Given the description of an element on the screen output the (x, y) to click on. 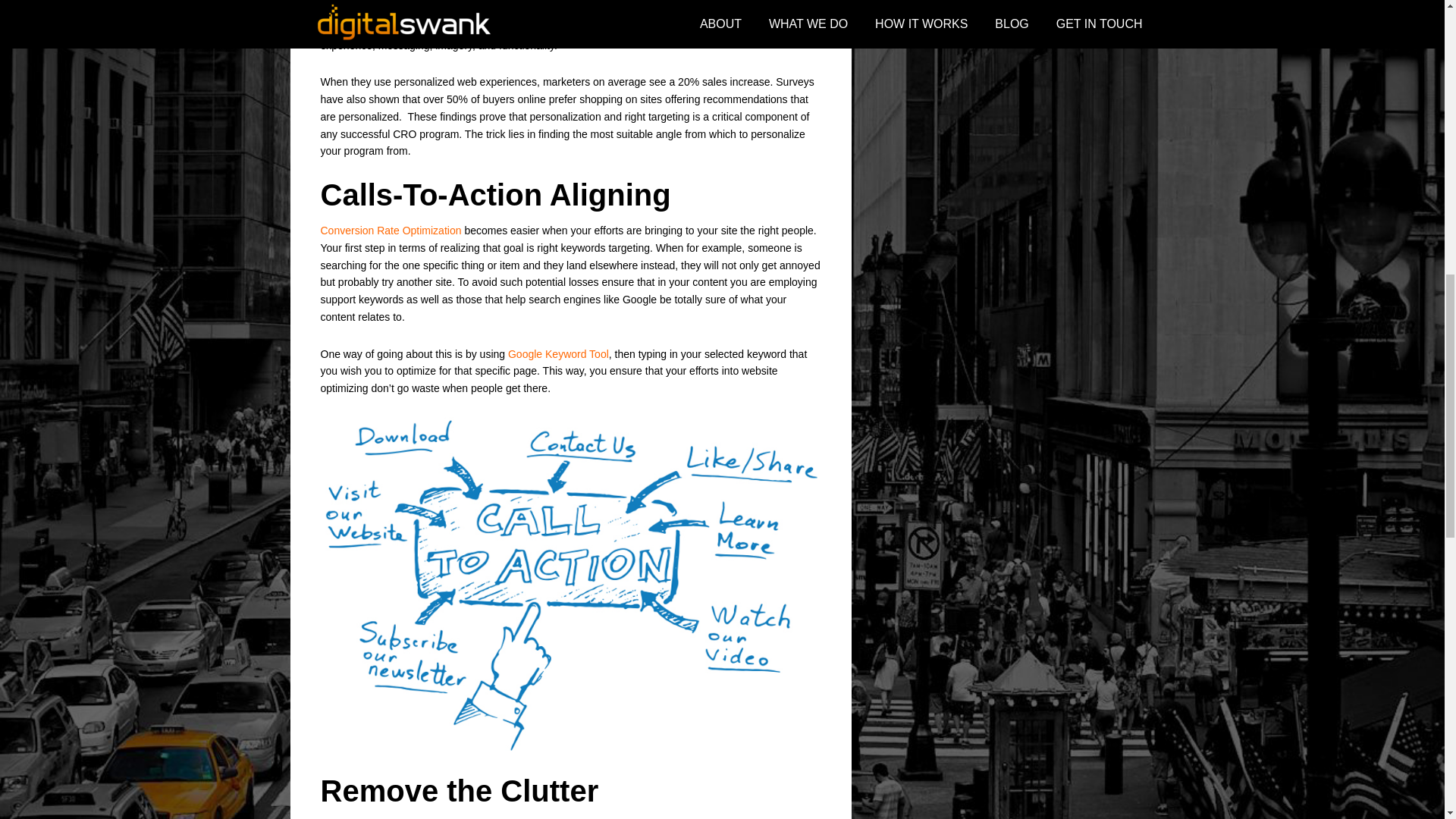
your site (717, 230)
Conversion Rate Optimization (390, 230)
Google Keyword Tool (558, 354)
